Given the description of an element on the screen output the (x, y) to click on. 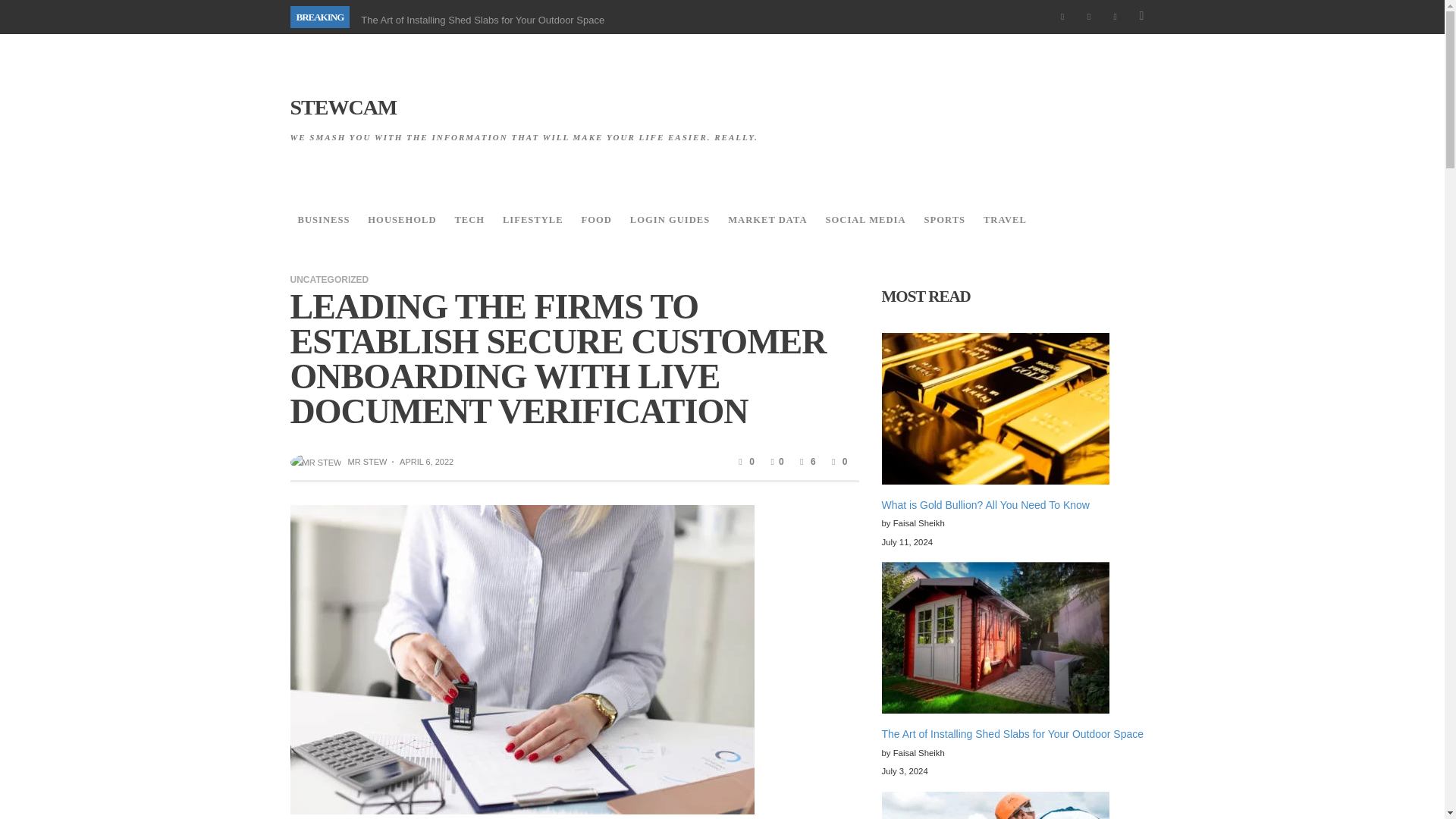
LIFESTYLE (532, 219)
Twitter (1114, 16)
The Art of Installing Shed Slabs for Your Outdoor Space (482, 19)
BUSINESS (322, 219)
Facebook (1062, 16)
HOUSEHOLD (401, 219)
TECH (469, 219)
